Given the description of an element on the screen output the (x, y) to click on. 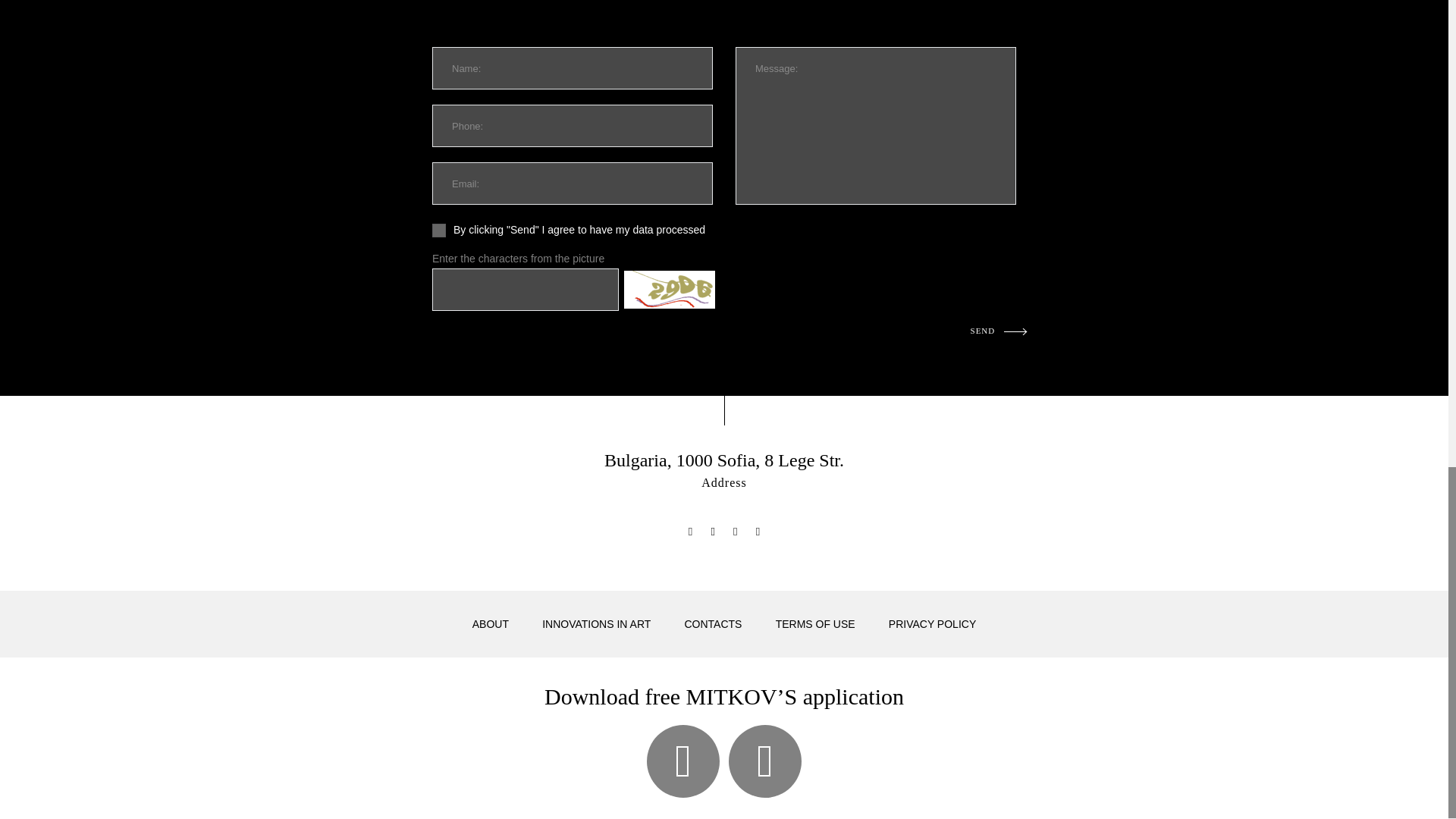
CONTACTS (712, 624)
INNOVATIONS IN ART (595, 624)
ABOUT (489, 624)
SEND (999, 329)
